Given the description of an element on the screen output the (x, y) to click on. 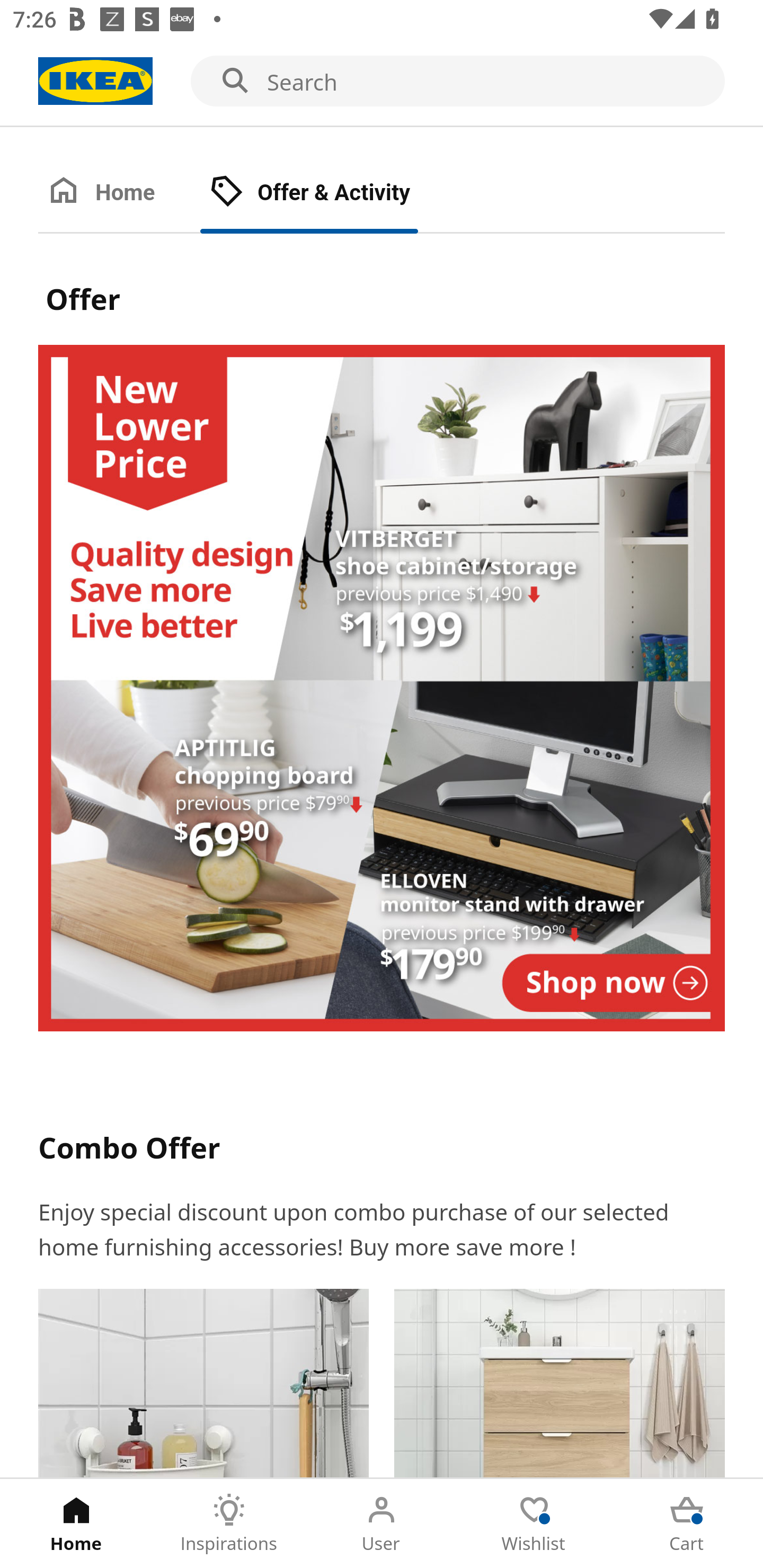
Search (381, 81)
Home
Tab 1 of 2 (118, 192)
Offer & Activity
Tab 2 of 2 (327, 192)
Home
Tab 1 of 5 (76, 1522)
Inspirations
Tab 2 of 5 (228, 1522)
User
Tab 3 of 5 (381, 1522)
Wishlist
Tab 4 of 5 (533, 1522)
Cart
Tab 5 of 5 (686, 1522)
